Given the description of an element on the screen output the (x, y) to click on. 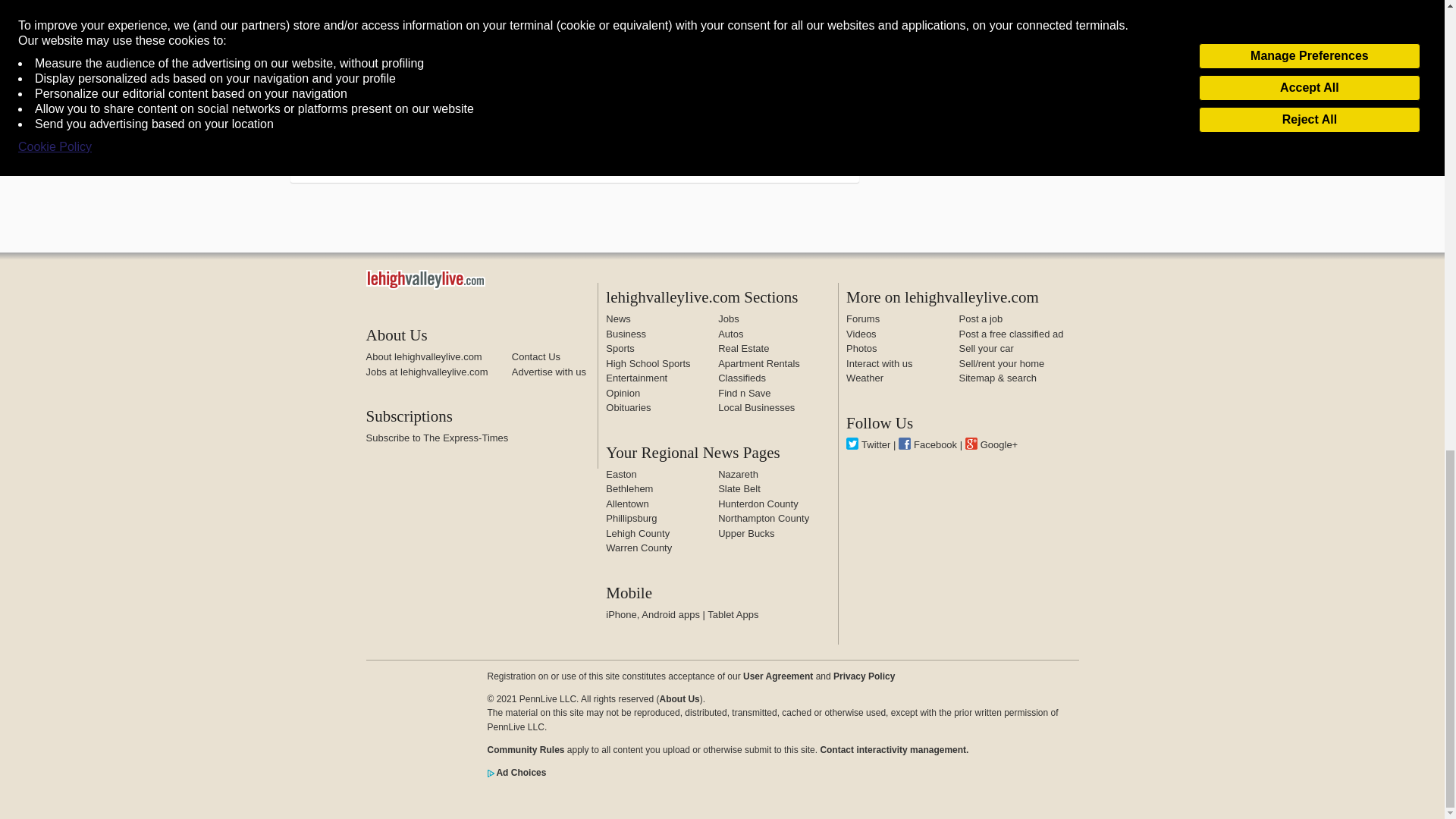
Contact Us (536, 356)
Privacy Policy (863, 675)
User Agreement (777, 675)
Community Rules (893, 749)
Community Rules (525, 749)
